Given the description of an element on the screen output the (x, y) to click on. 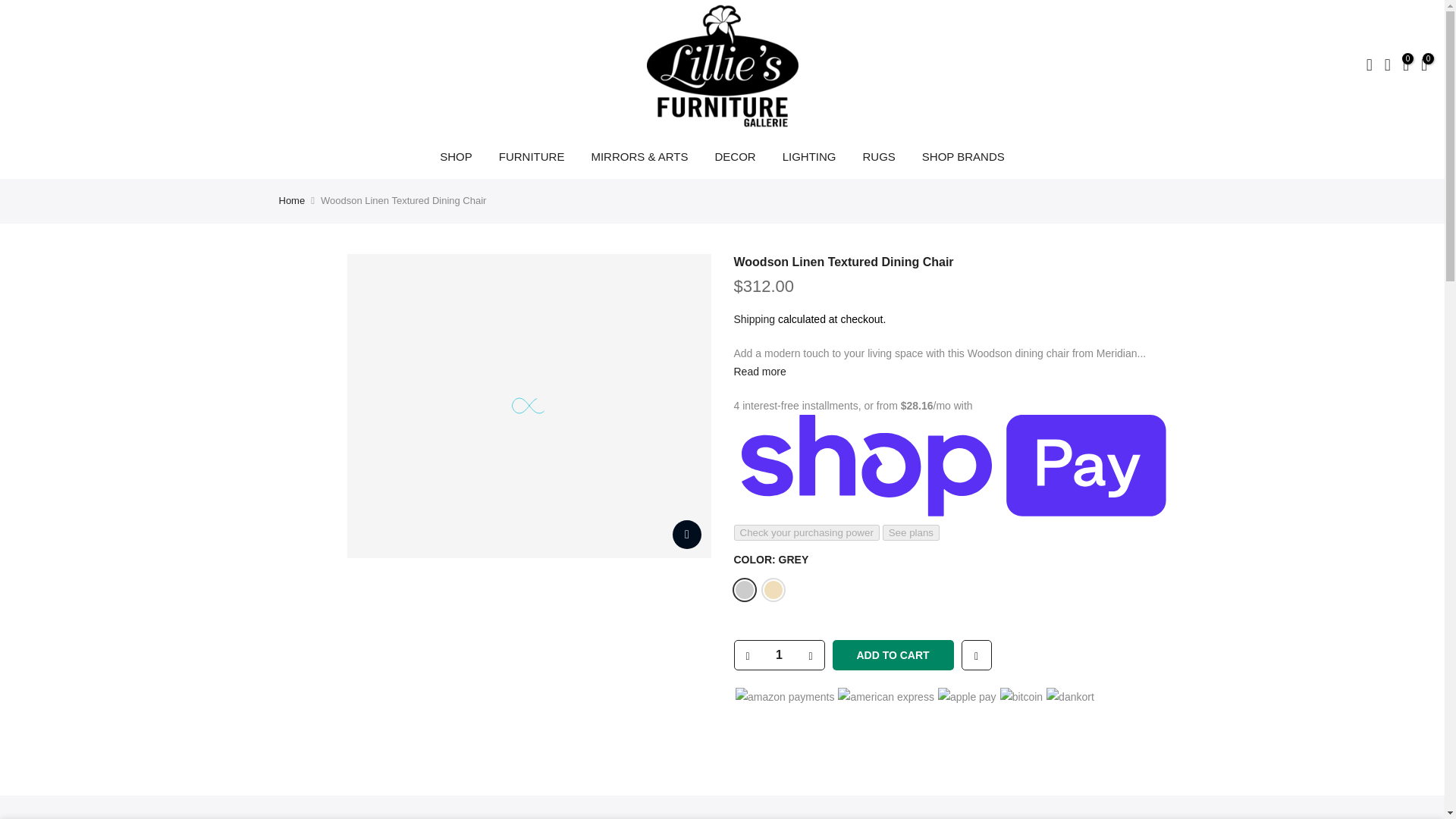
SHOP BRANDS (962, 156)
RUGS (878, 156)
LIGHTING (808, 156)
0 (1405, 66)
DECOR (734, 156)
SHOP (456, 156)
Home (292, 200)
ADD TO CART (892, 654)
Read more (759, 371)
Shipping (754, 318)
